Given the description of an element on the screen output the (x, y) to click on. 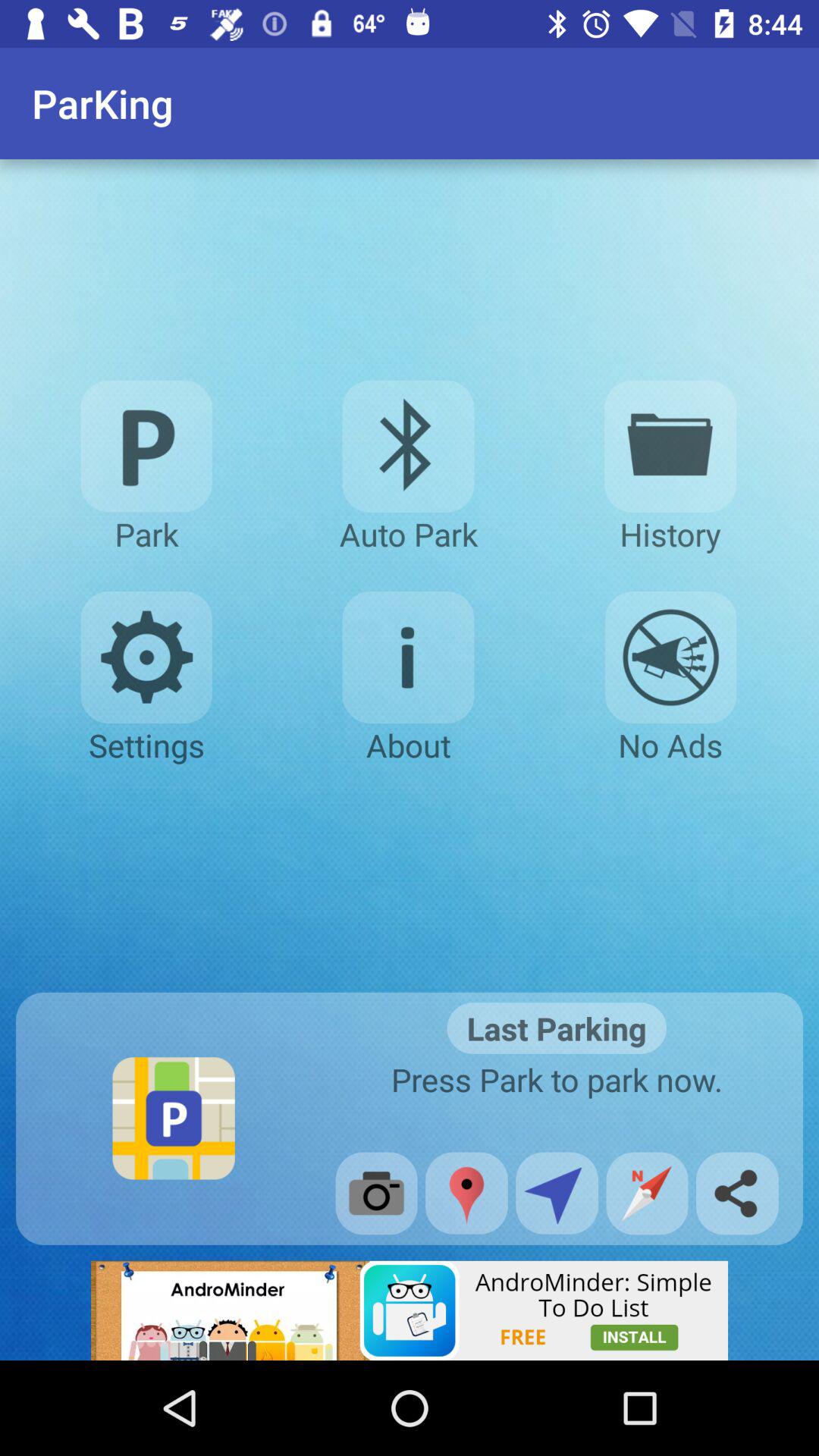
go to history (670, 446)
